Given the description of an element on the screen output the (x, y) to click on. 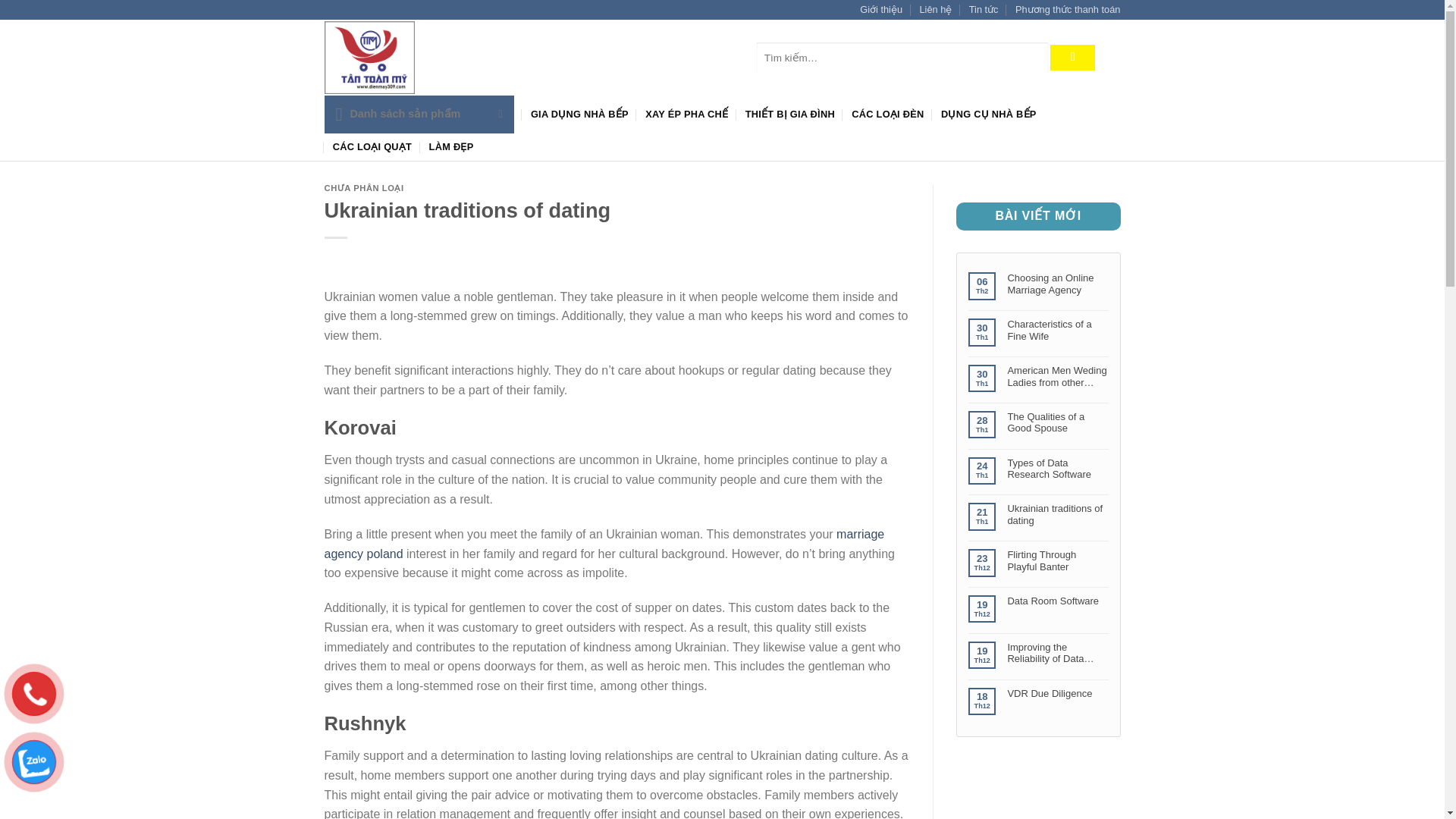
Characteristics of a Fine Wife (1057, 330)
08:00 - 21:30 (627, 57)
Choosing an Online Marriage Agency (1057, 284)
0961929448 (711, 57)
0961929448 (711, 57)
